Given the description of an element on the screen output the (x, y) to click on. 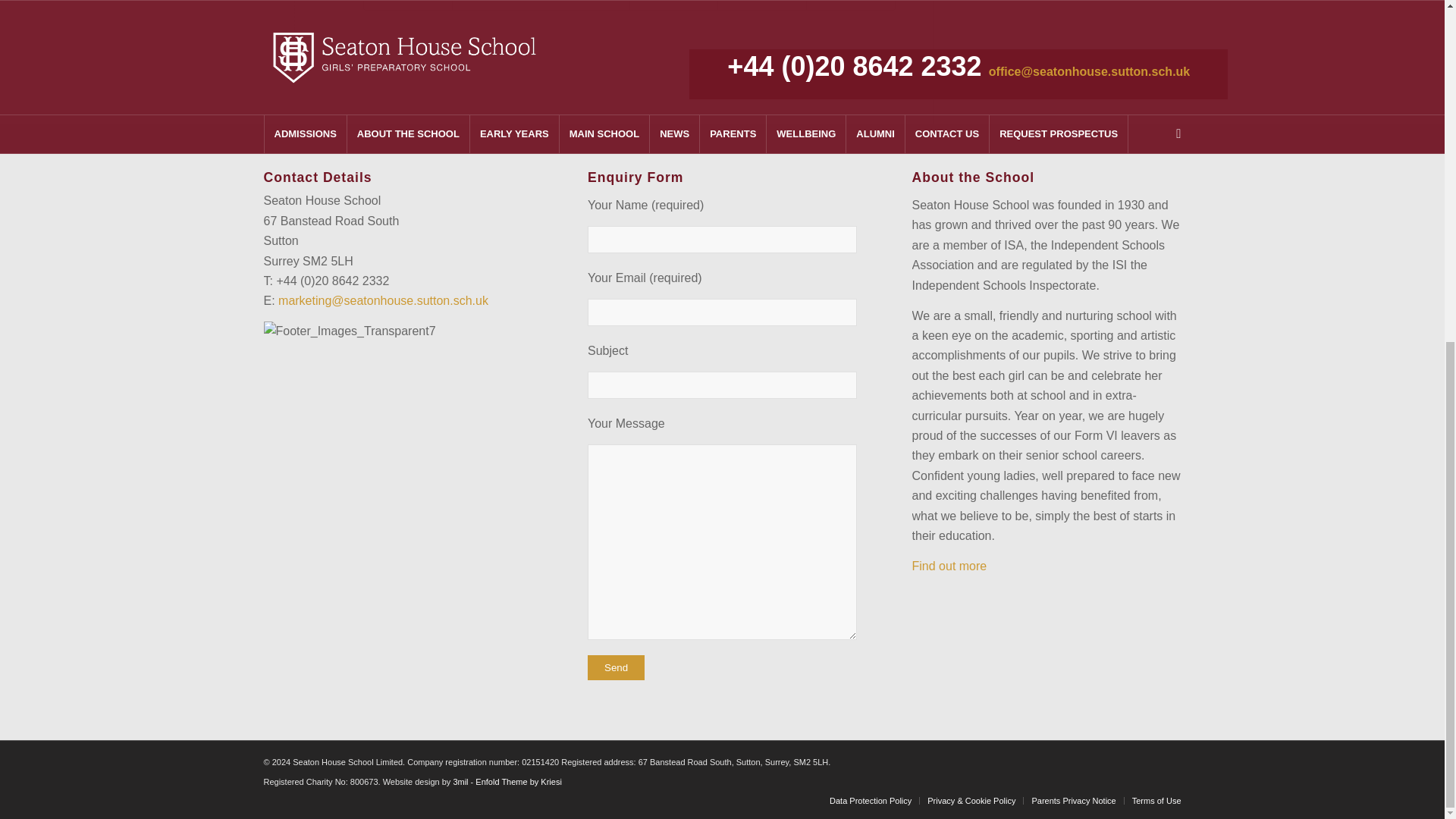
Send (616, 667)
